Given the description of an element on the screen output the (x, y) to click on. 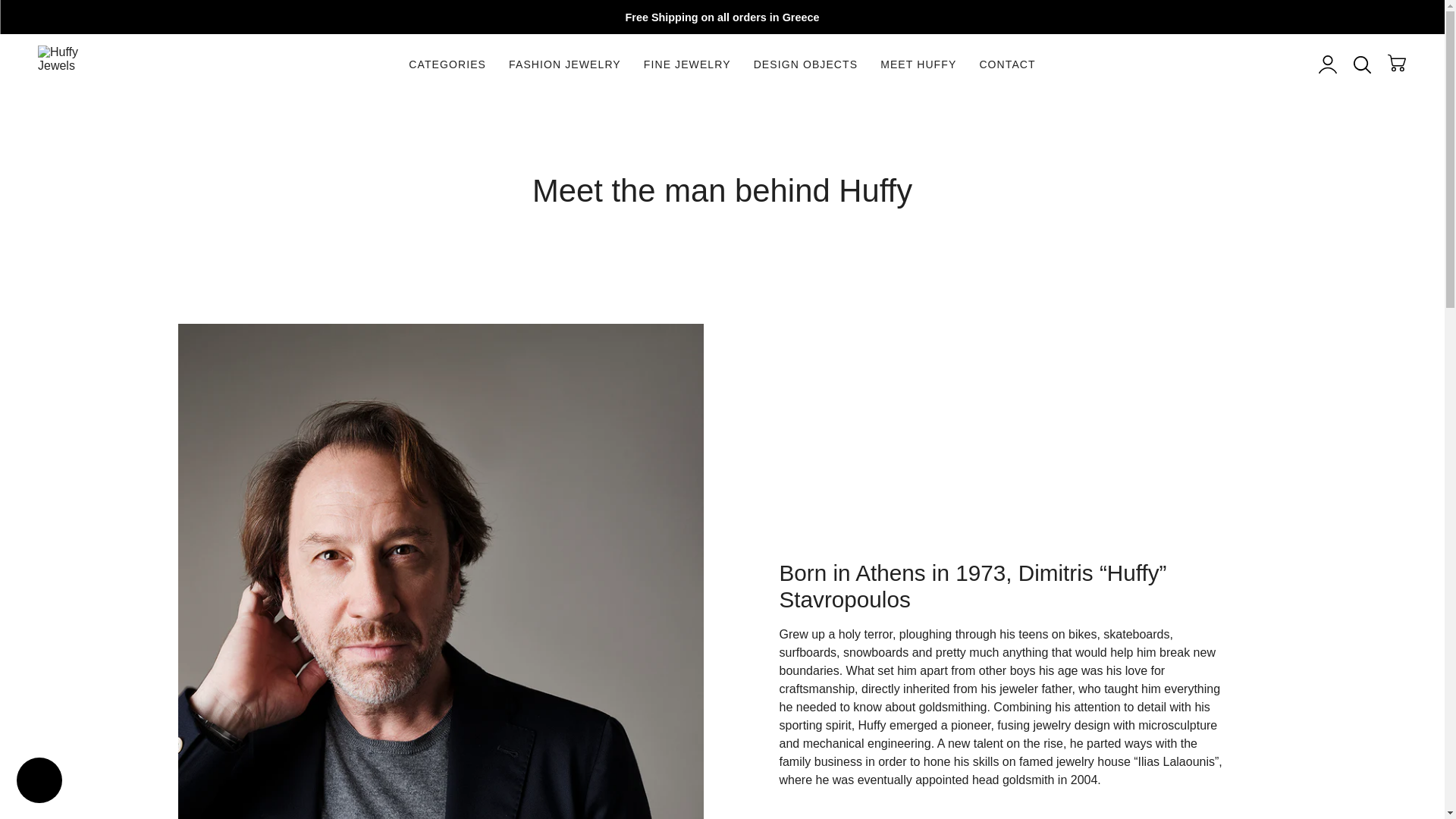
CONTACT (1007, 64)
FASHION JEWELRY (564, 64)
MEET HUFFY (918, 64)
DESIGN OBJECTS (805, 64)
FINE JEWELRY (686, 64)
CATEGORIES (447, 64)
Shopify online store chat (38, 781)
